Given the description of an element on the screen output the (x, y) to click on. 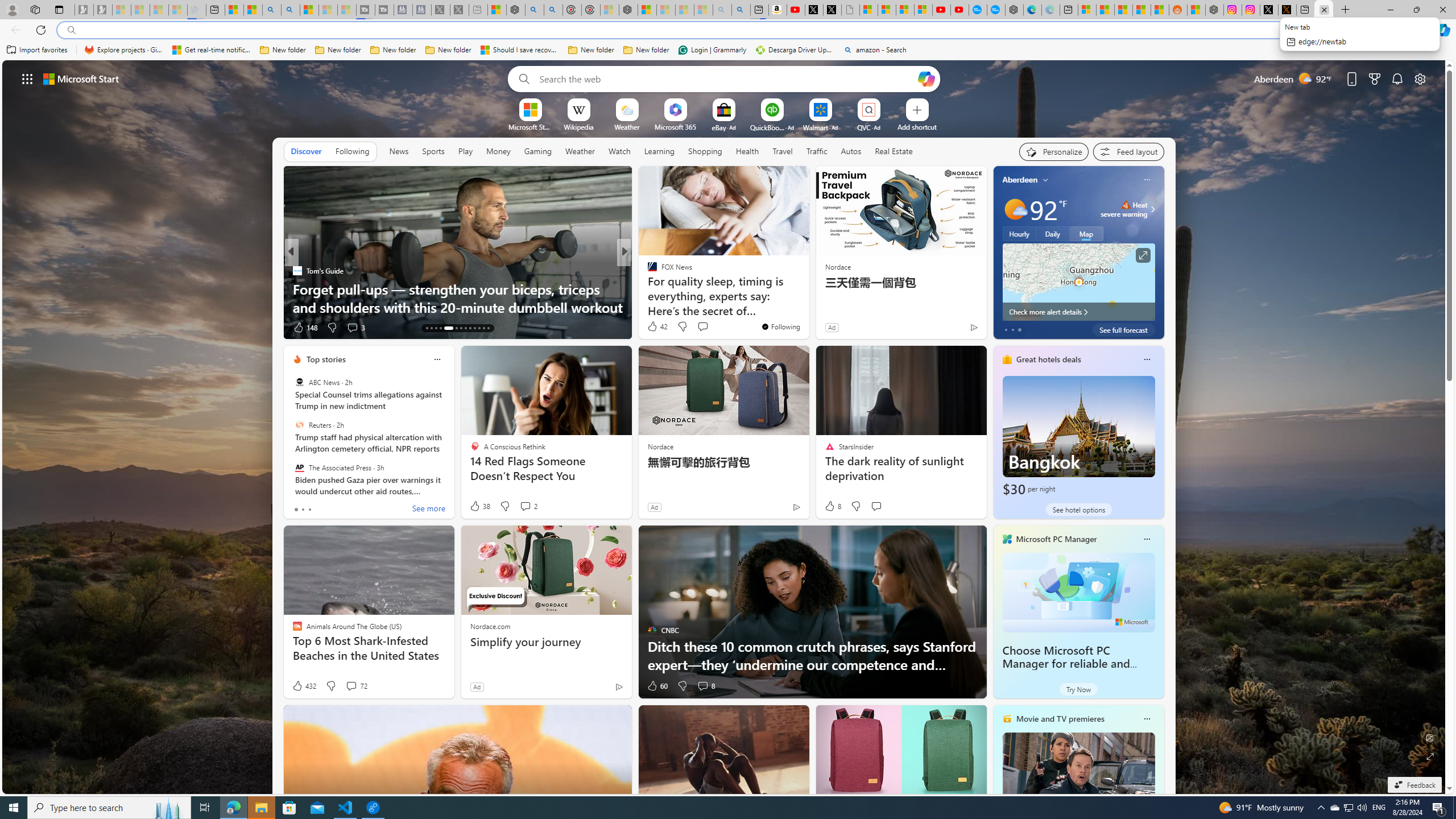
Shopping (705, 151)
AutomationID: waffle (27, 78)
View comments 3 Comment (352, 327)
Untitled (850, 9)
poe ++ standard - Search (552, 9)
View comments 4 Comment (698, 327)
Daily (1052, 233)
Nordace - Nordace has arrived Hong Kong (1013, 9)
Enter your search term (726, 78)
